Given the description of an element on the screen output the (x, y) to click on. 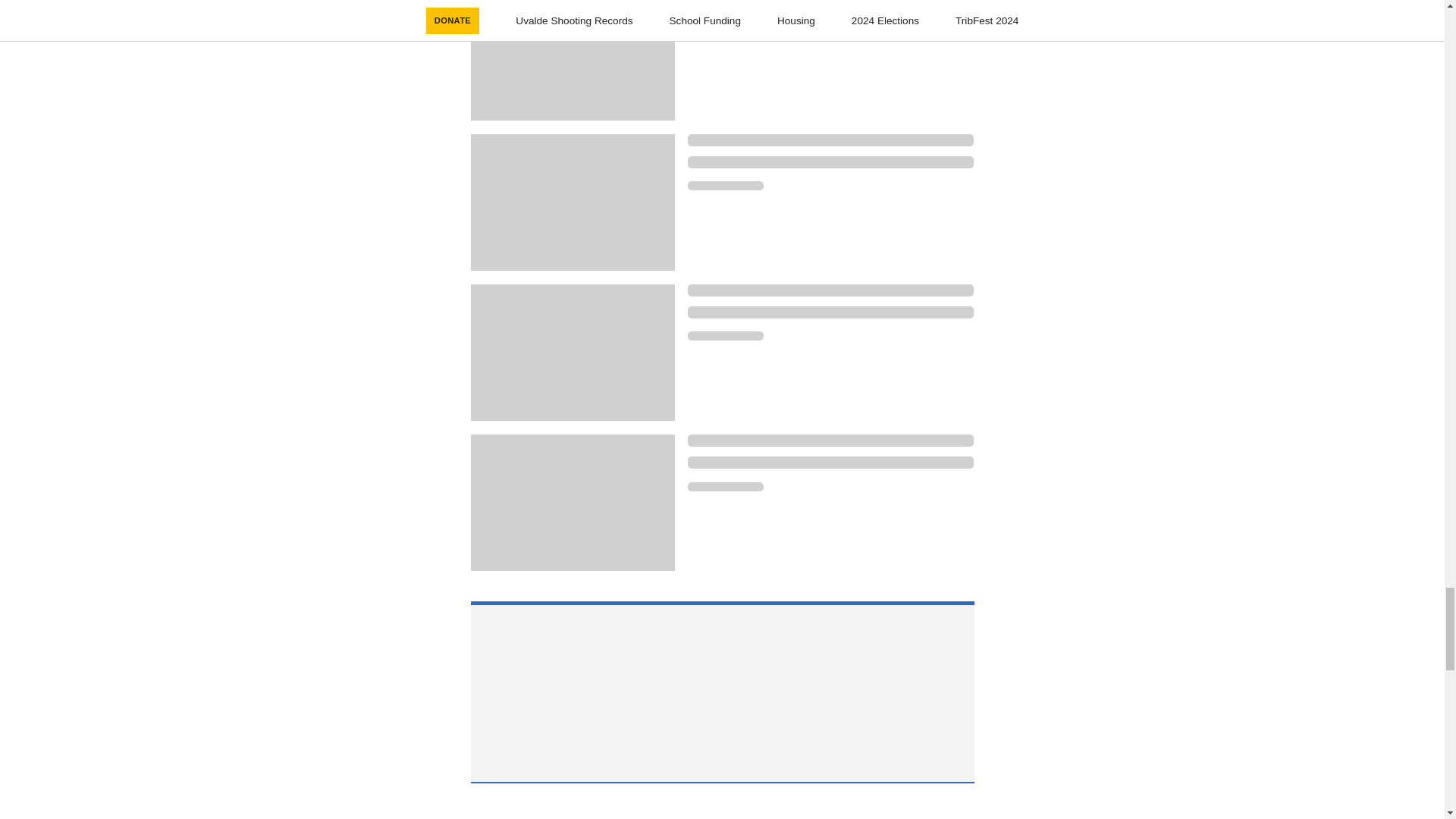
Loading indicator (830, 462)
Loading indicator (724, 486)
Loading indicator (830, 162)
Loading indicator (830, 312)
Loading indicator (830, 11)
Loading indicator (724, 185)
Loading indicator (830, 290)
Loading indicator (830, 140)
Loading indicator (830, 440)
Loading indicator (724, 335)
